Given the description of an element on the screen output the (x, y) to click on. 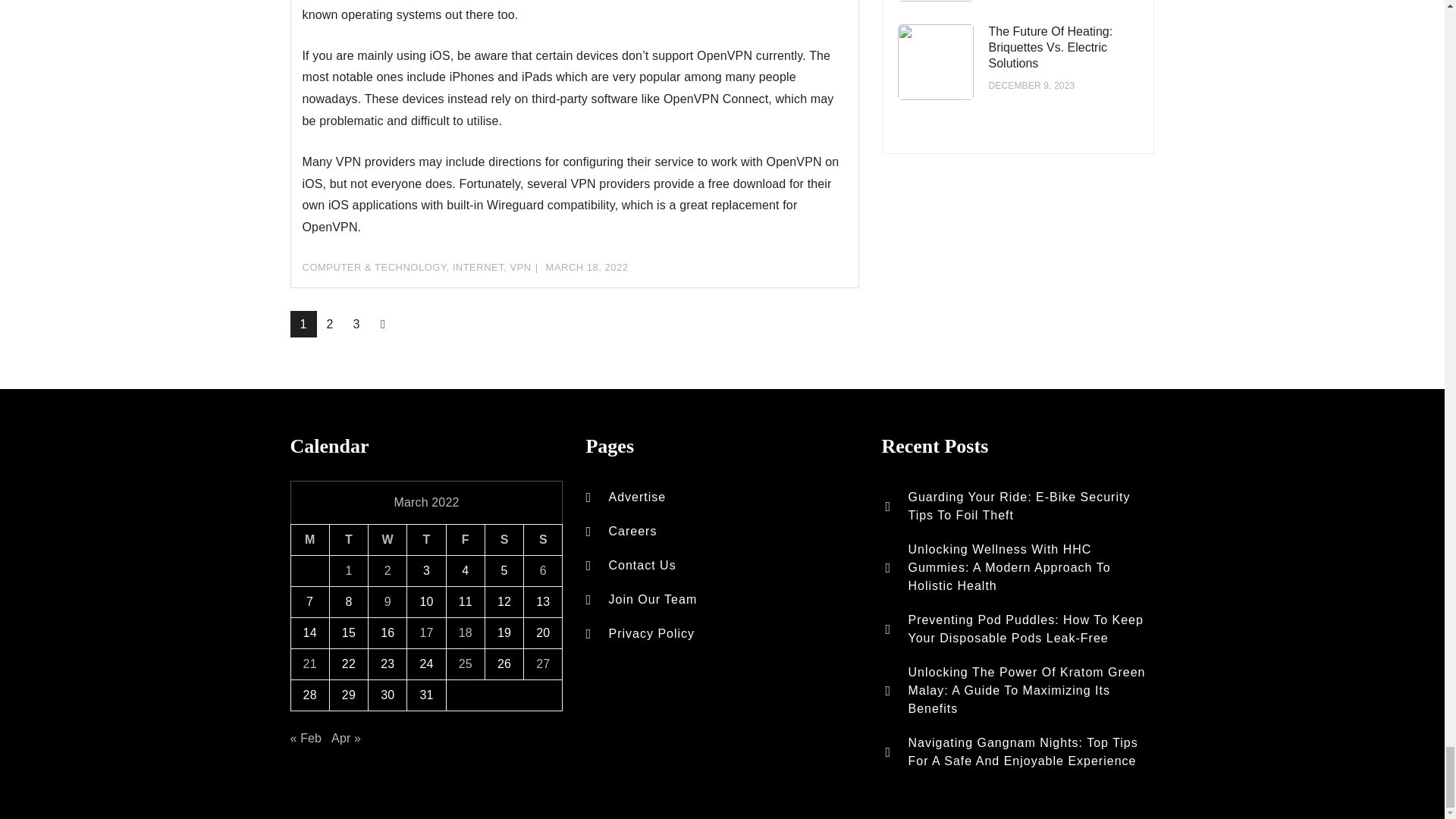
Wednesday (387, 540)
Sunday (543, 540)
Friday (464, 540)
Saturday (503, 540)
Monday (309, 540)
Tuesday (348, 540)
Thursday (426, 540)
